Given the description of an element on the screen output the (x, y) to click on. 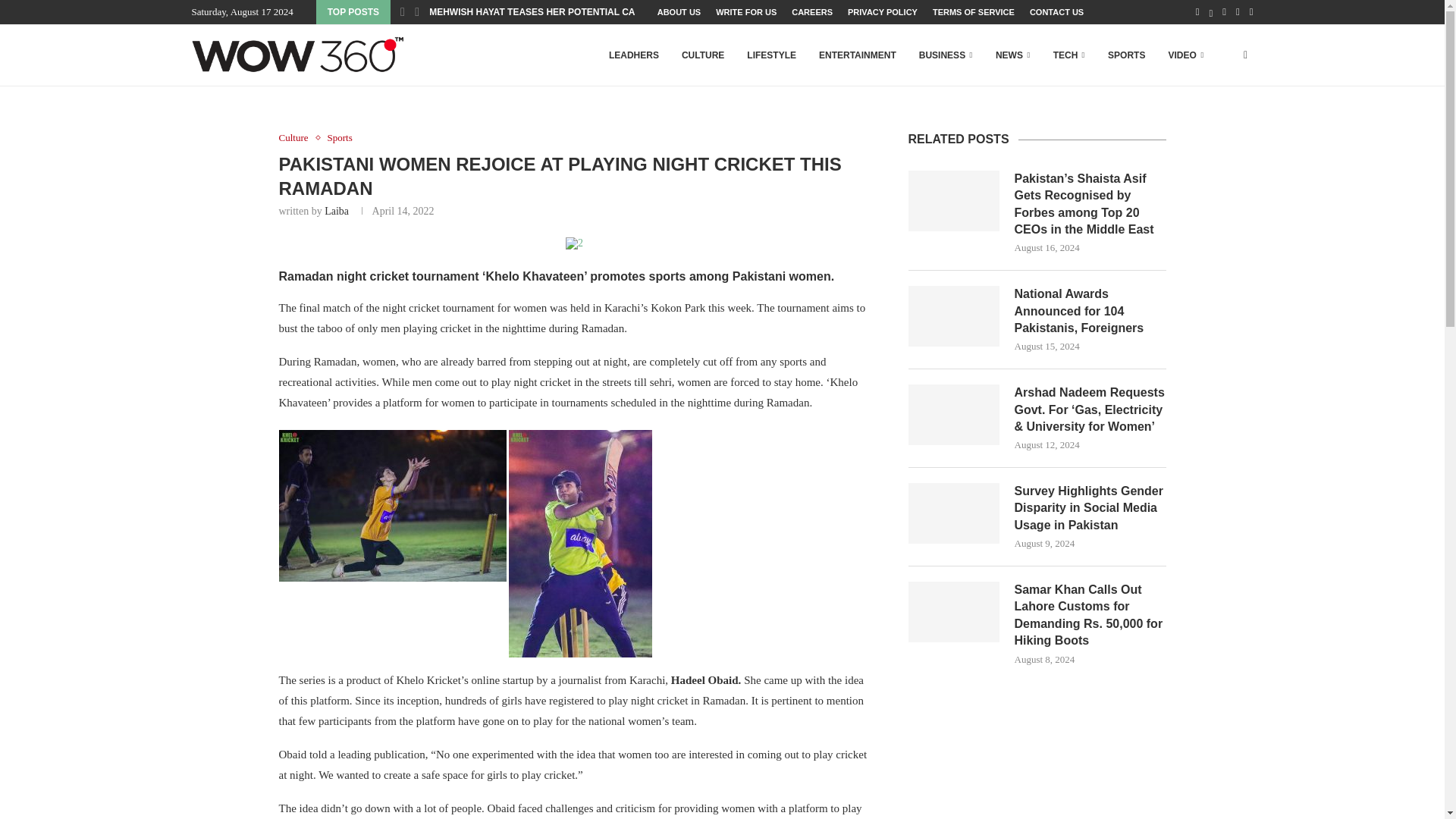
WRITE FOR US (746, 12)
Laiba (336, 211)
PRIVACY POLICY (882, 12)
Sports (339, 137)
ENTERTAINMENT (857, 55)
Culture (297, 137)
2 (574, 243)
CONTACT US (1056, 12)
CAREERS (812, 12)
ABOUT US (679, 12)
